Given the description of an element on the screen output the (x, y) to click on. 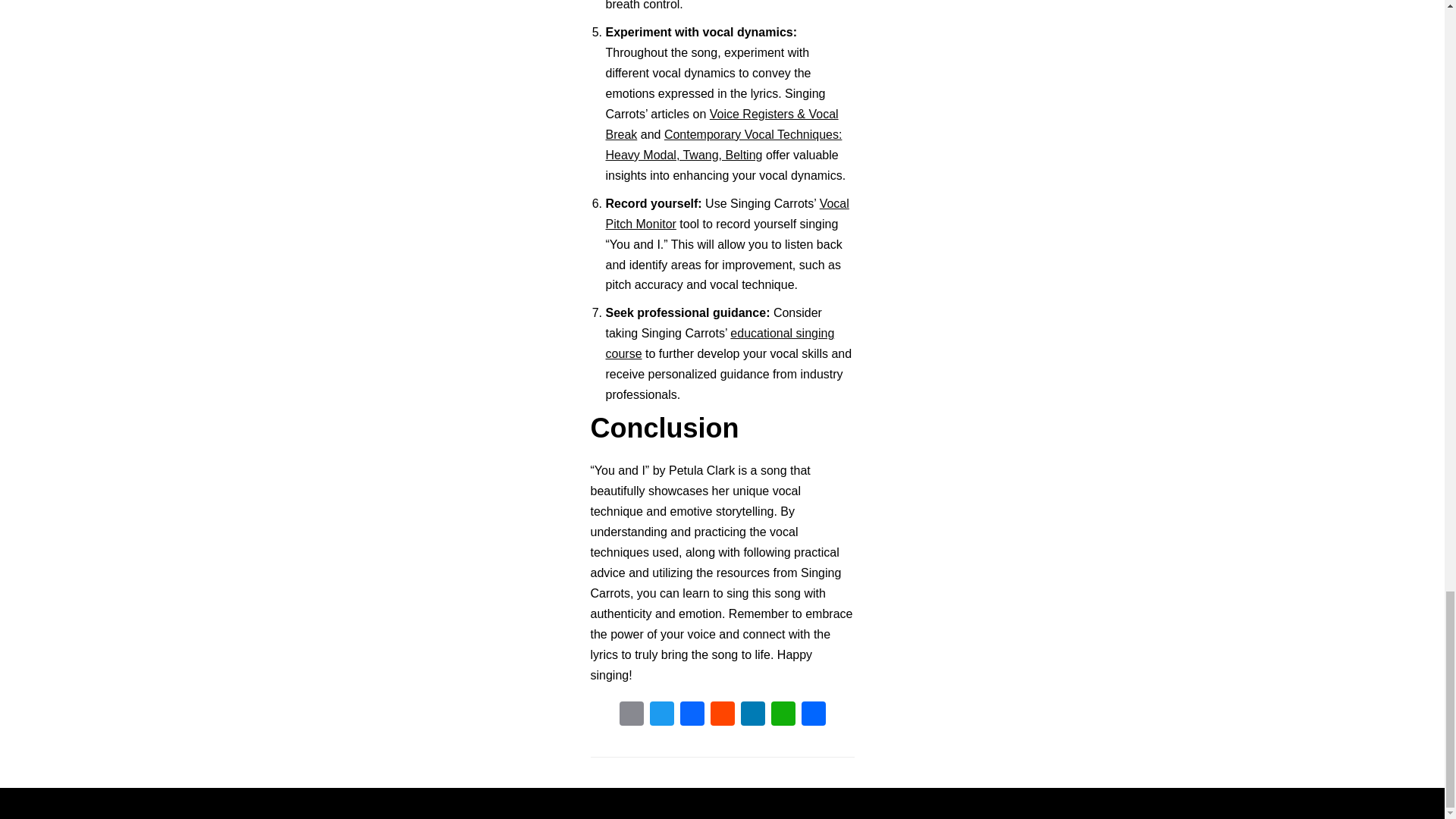
WordPress (775, 802)
Contemporary Vocal Techniques: Heavy Modal, Twang, Belting (723, 144)
educational singing course (719, 343)
Facebook (691, 715)
Email (630, 715)
Share (812, 715)
Facebook (691, 715)
WhatsApp (782, 715)
LinkedIn (751, 715)
Reddit (721, 715)
